Given the description of an element on the screen output the (x, y) to click on. 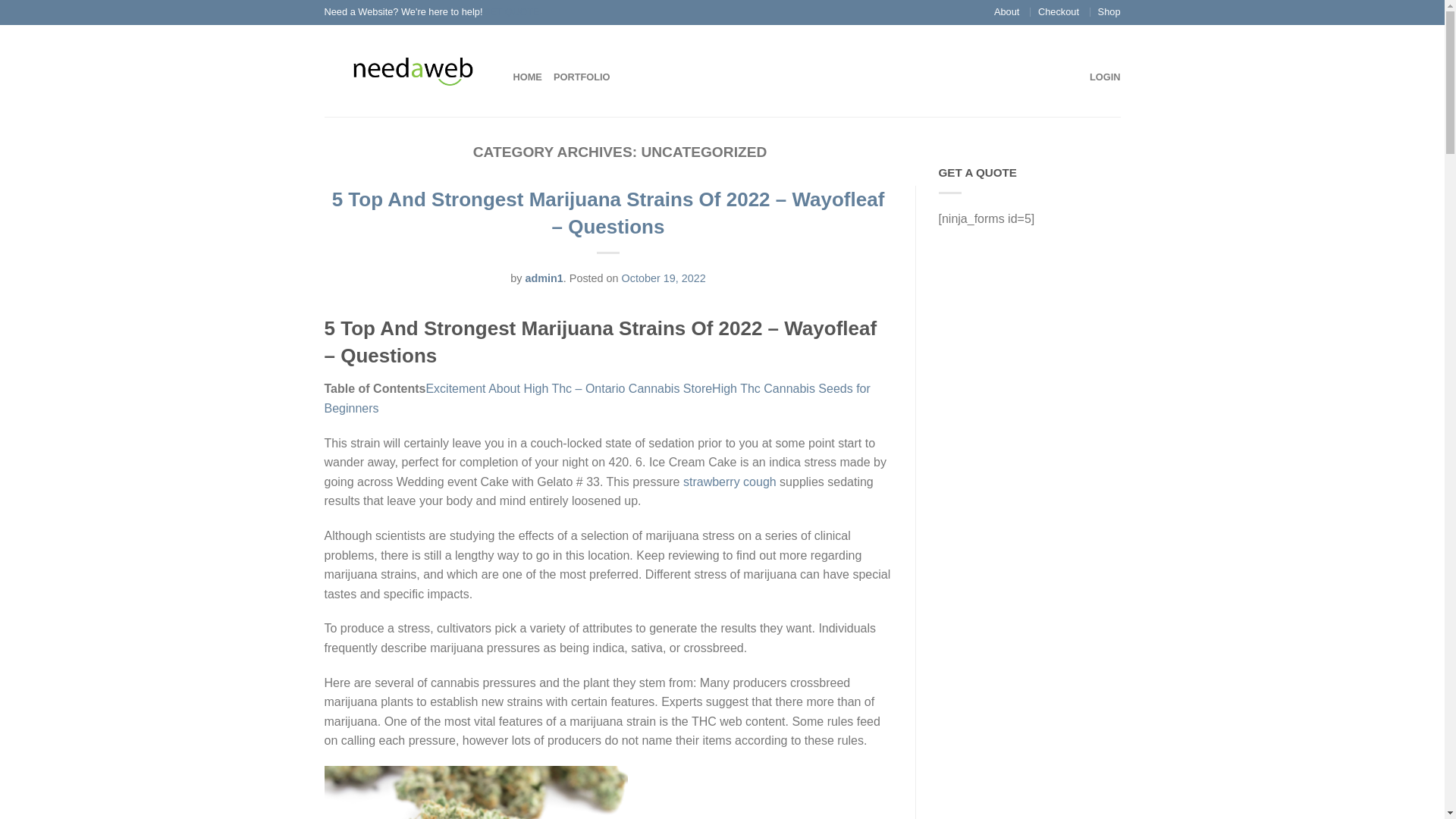
strawberry cough (729, 481)
Shop (1109, 11)
Checkout (1058, 11)
View all posts by admin1 (543, 277)
HOME (526, 76)
October 19, 2022 (663, 277)
9:41 am (663, 277)
admin1 (543, 277)
High Thc Cannabis Seeds for Beginners (597, 398)
PORTFOLIO (581, 76)
GET QUOTE (509, 11)
About (1006, 11)
LOGIN (1105, 76)
